Given the description of an element on the screen output the (x, y) to click on. 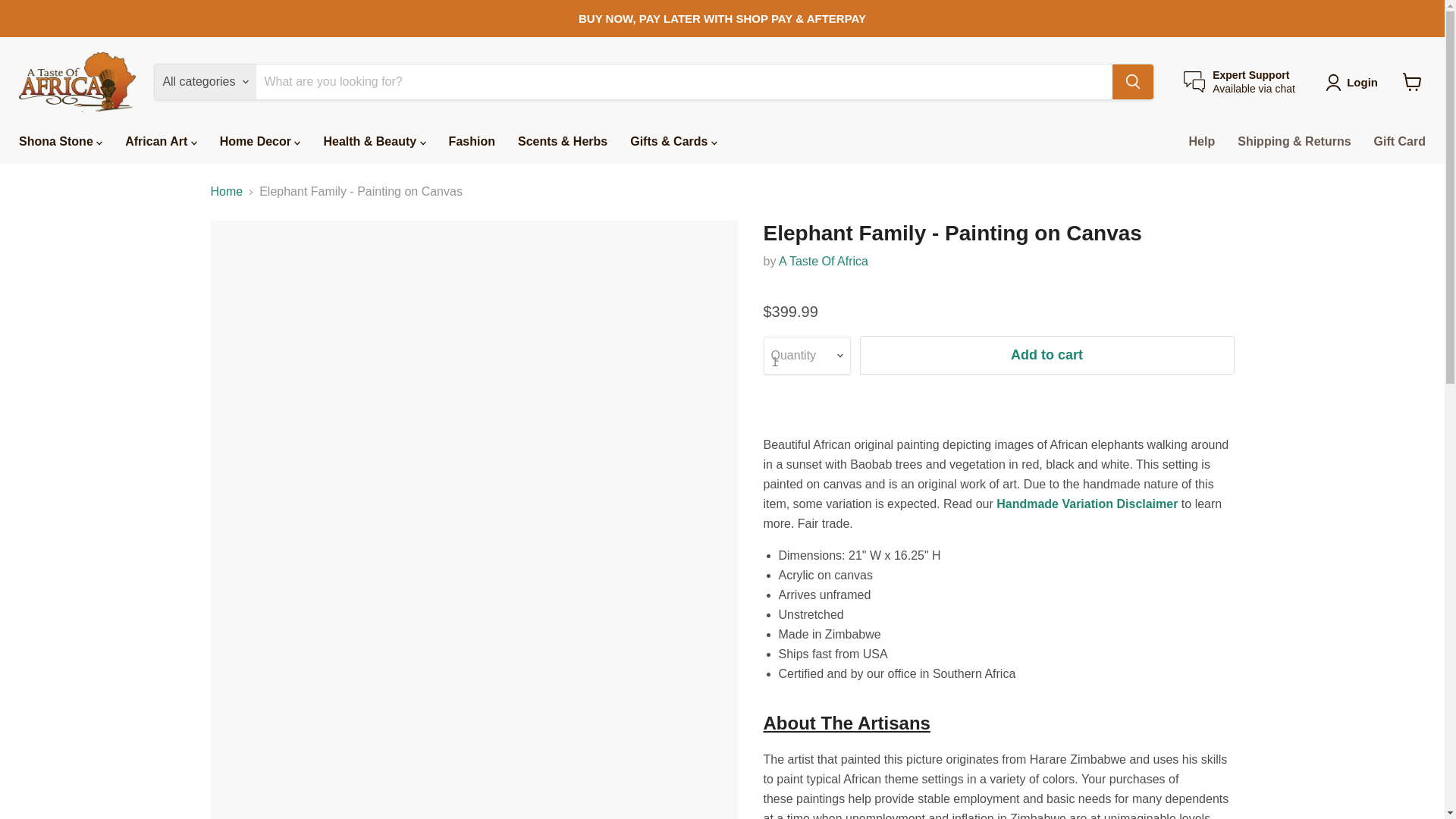
View cart (1411, 81)
A Taste Of Africa (822, 260)
Login (1362, 81)
Handmade Variation Disclaimer (1239, 81)
